Given the description of an element on the screen output the (x, y) to click on. 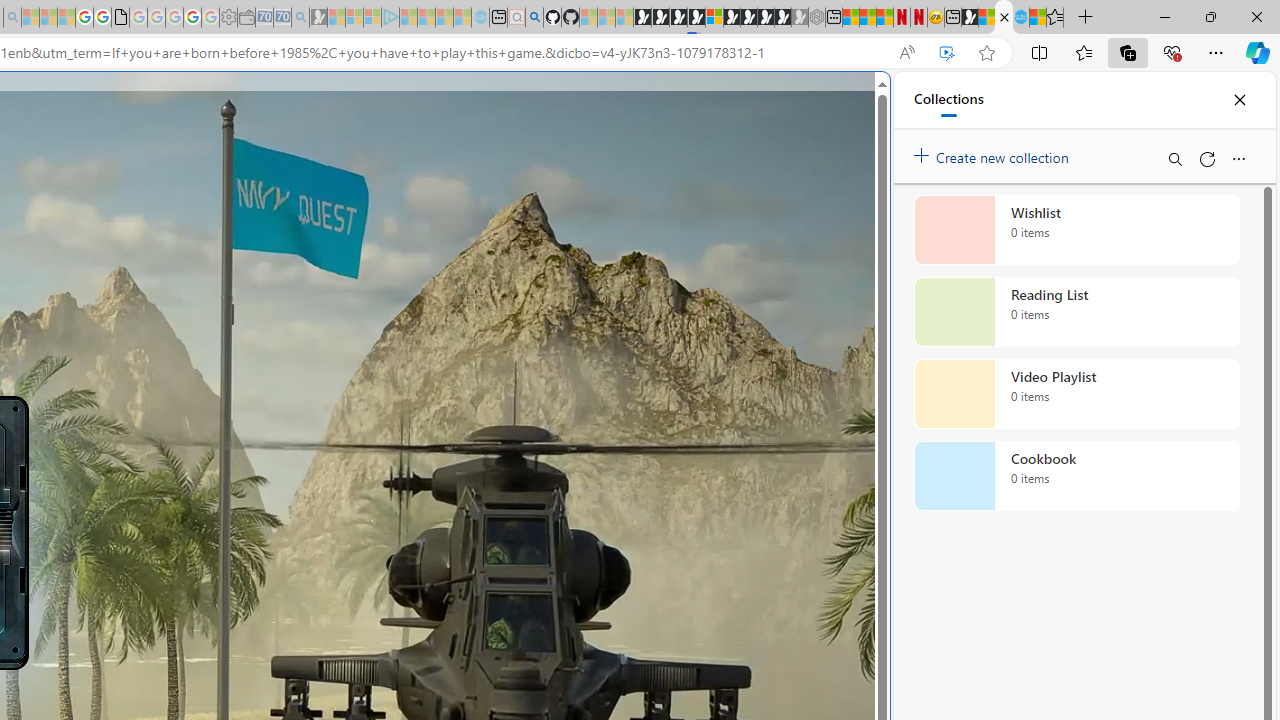
Reading List collection, 0 items (1076, 312)
Services - Maintenance | Sky Blue Bikes - Sky Blue Bikes (1020, 17)
Tabs you've opened (276, 265)
Cookbook collection, 0 items (1076, 475)
